Given the description of an element on the screen output the (x, y) to click on. 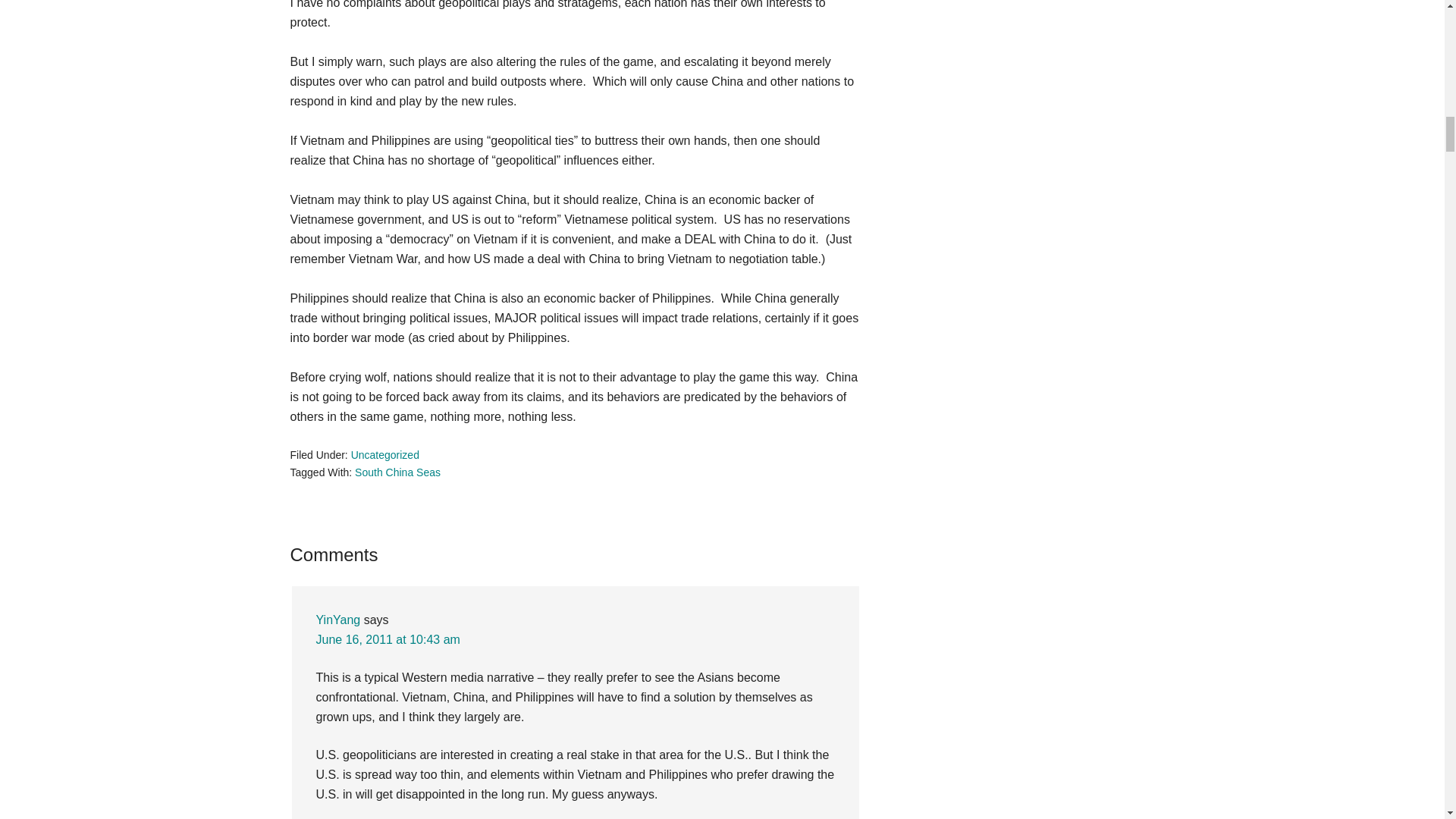
YinYang (337, 619)
June 16, 2011 at 10:43 am (387, 639)
Uncategorized (384, 454)
South China Seas (398, 472)
